Given the description of an element on the screen output the (x, y) to click on. 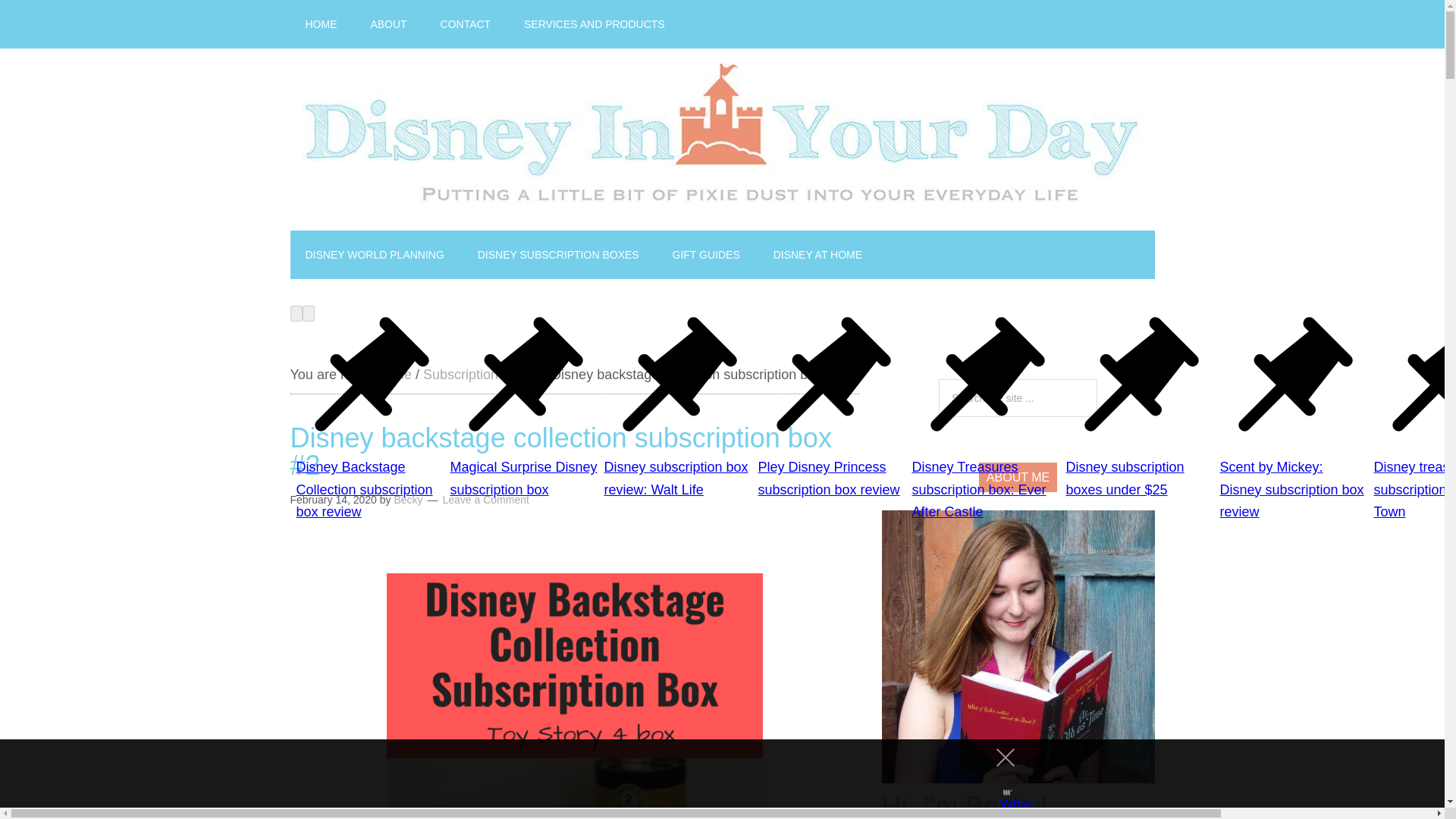
DISNEY SUBSCRIPTION BOXES (558, 254)
Leave a Comment (485, 499)
Subscription Boxes (481, 374)
DISNEY WORLD PLANNING (373, 254)
HOME (320, 24)
DISNEY AT HOME (817, 254)
ABOUT (388, 24)
Becky (407, 499)
CONTACT (465, 24)
Disney in your Day (721, 139)
GIFT GUIDES (706, 254)
3rd party ad content (708, 773)
